Given the description of an element on the screen output the (x, y) to click on. 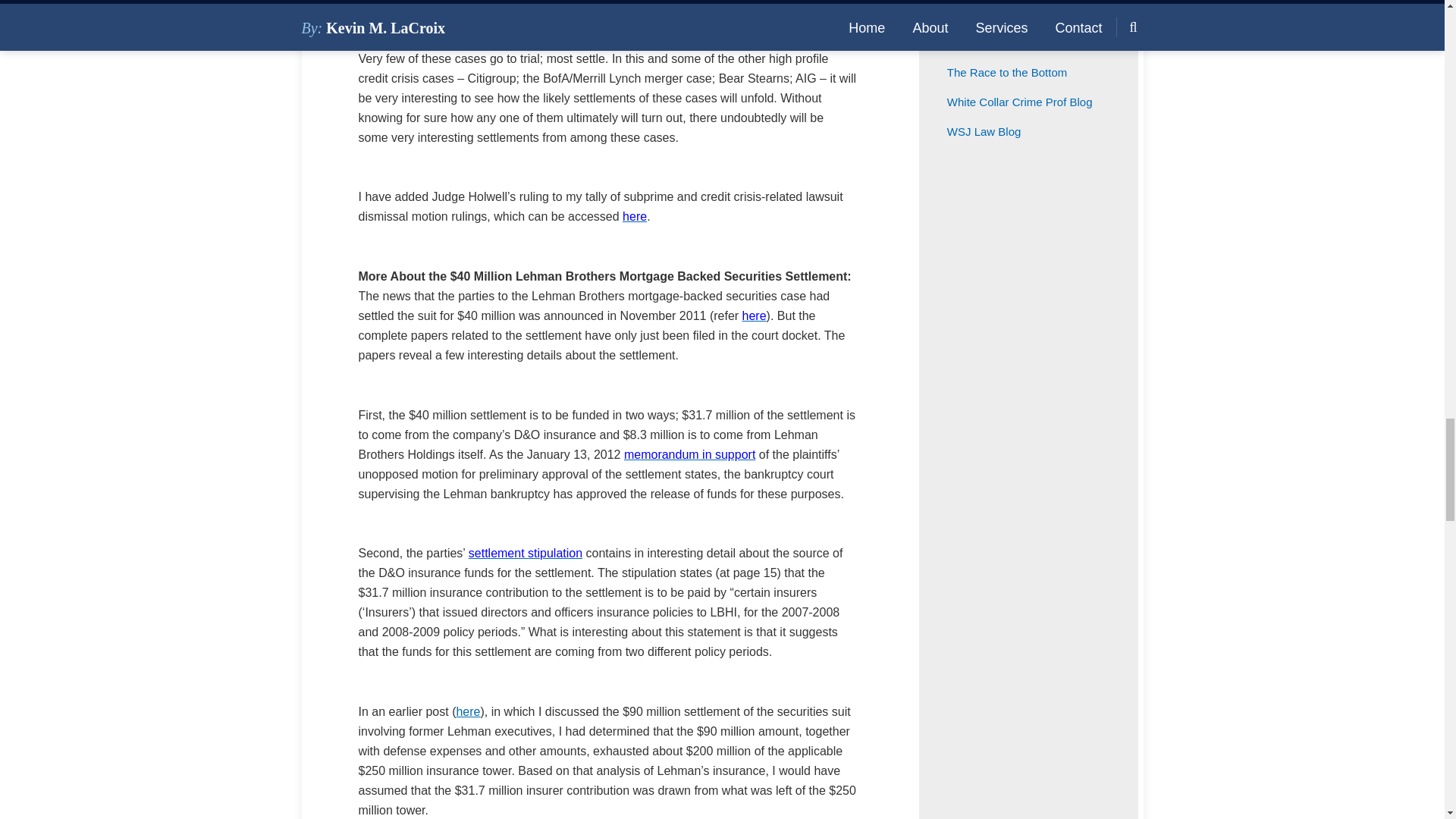
here (634, 215)
memorandum in support (689, 454)
here (467, 711)
here (754, 315)
settlement stipulation (525, 553)
The InsurTech Lawyer (1003, 42)
